Given the description of an element on the screen output the (x, y) to click on. 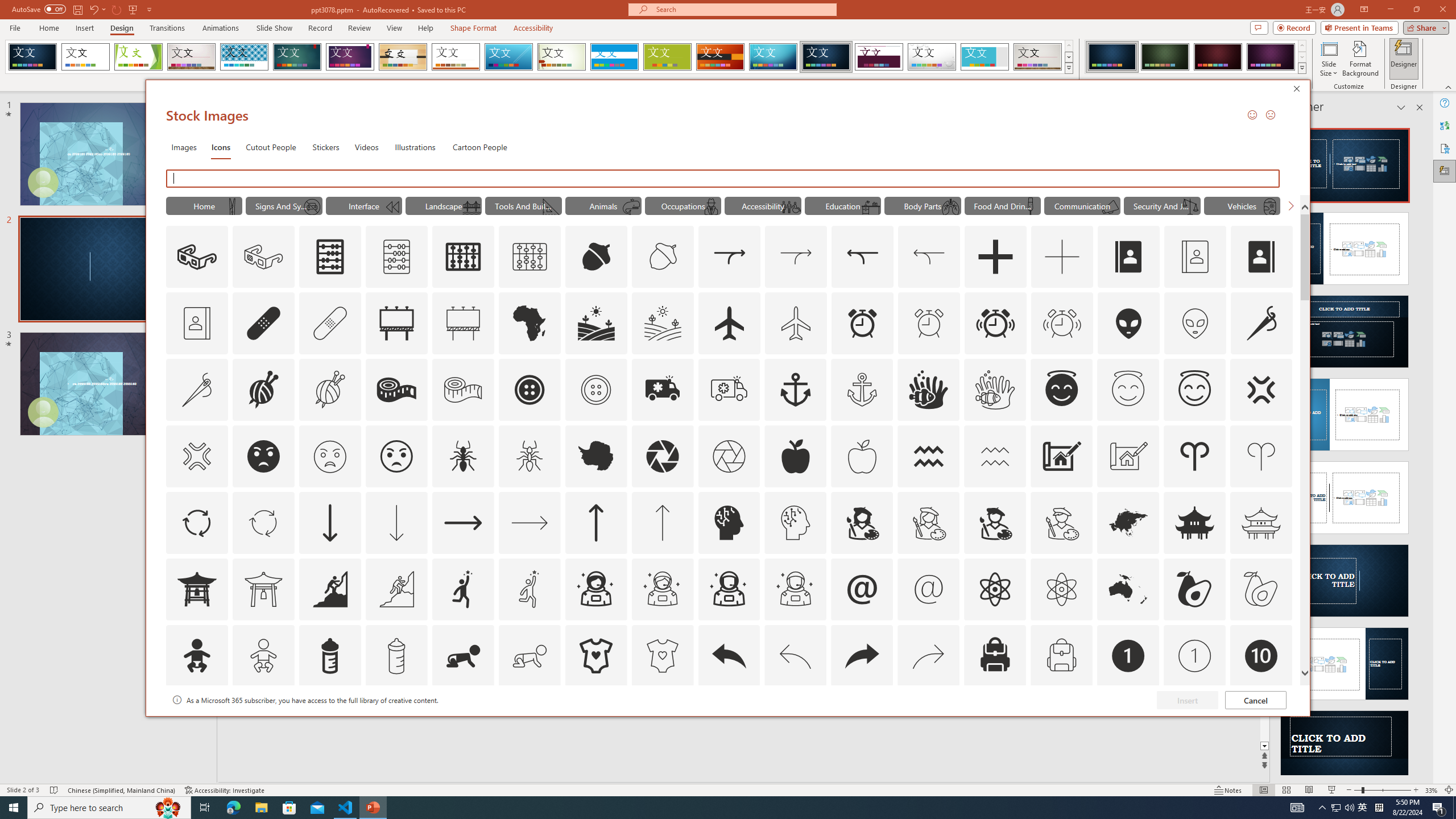
AutomationID: Icons_Acorn (596, 256)
AutomationID: Icons_AstronautMale (729, 588)
AutomationID: _134_Angel_Face_A (1061, 388)
AutomationID: Icons (1260, 721)
AutomationID: Icons_Peg_M (231, 206)
AutomationID: Icons_ArrowDown_M (395, 522)
Ion Boardroom (350, 56)
AutomationID: Icons_ArrowRight (462, 522)
Retrospect (455, 56)
